Given the description of an element on the screen output the (x, y) to click on. 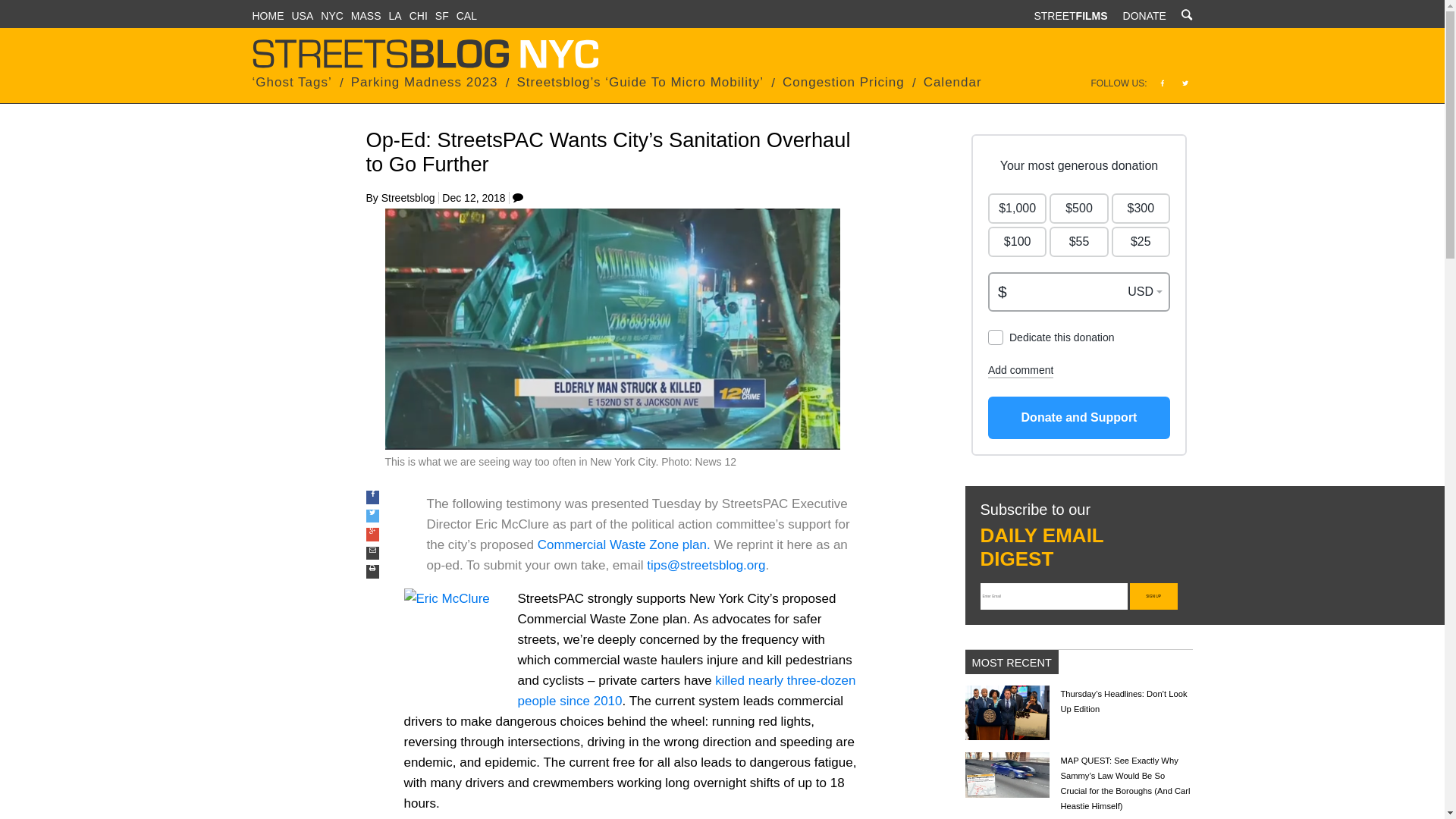
LA (394, 15)
MASS (365, 15)
NYC (331, 15)
Calendar (952, 82)
Congestion Pricing (843, 82)
STREETFILMS (1069, 15)
DONATE (1144, 15)
Parking Madness 2023 (423, 82)
Dec 12, 2018 (473, 197)
News 12 (715, 461)
